Given the description of an element on the screen output the (x, y) to click on. 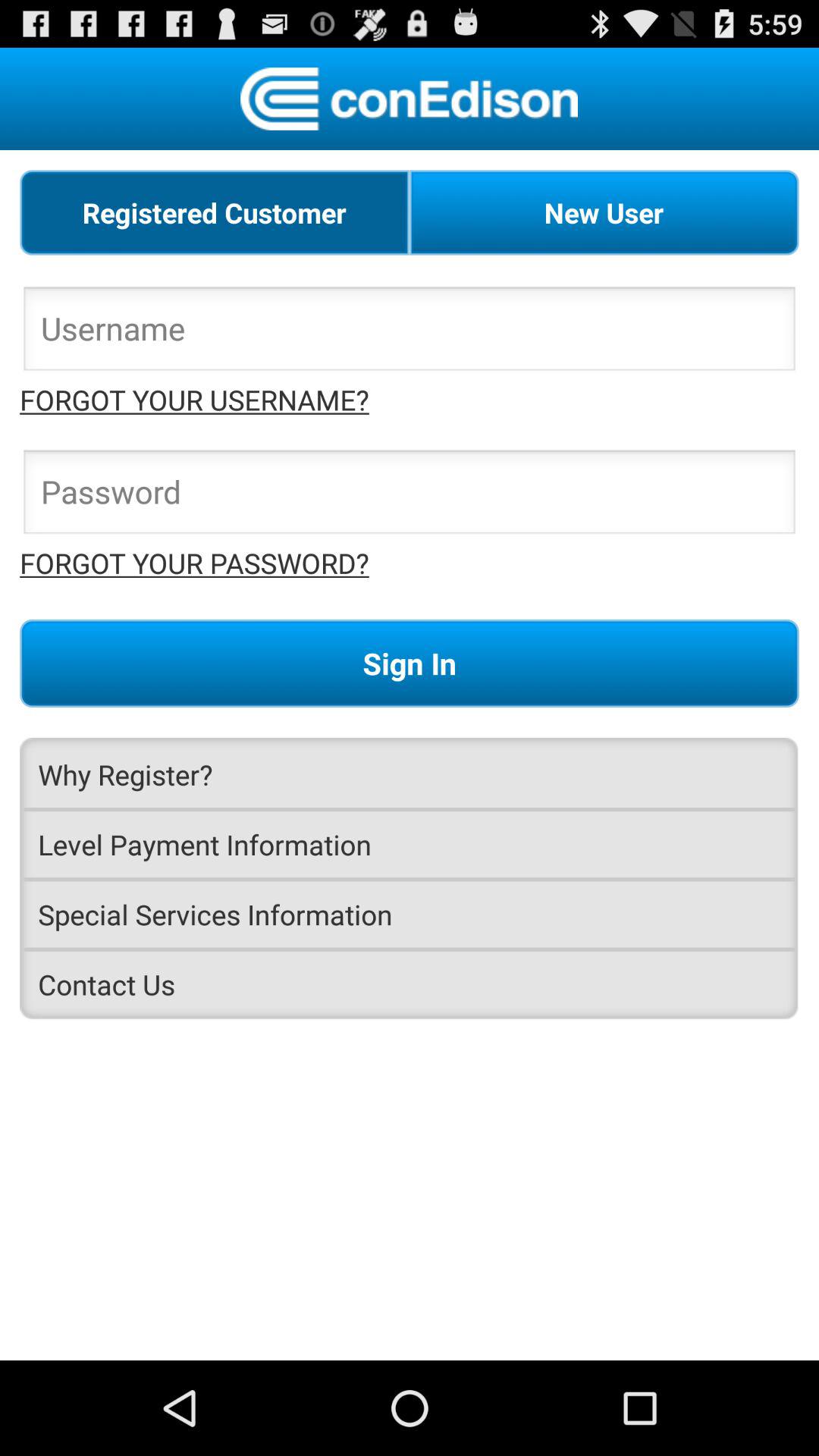
enter name (409, 333)
